Given the description of an element on the screen output the (x, y) to click on. 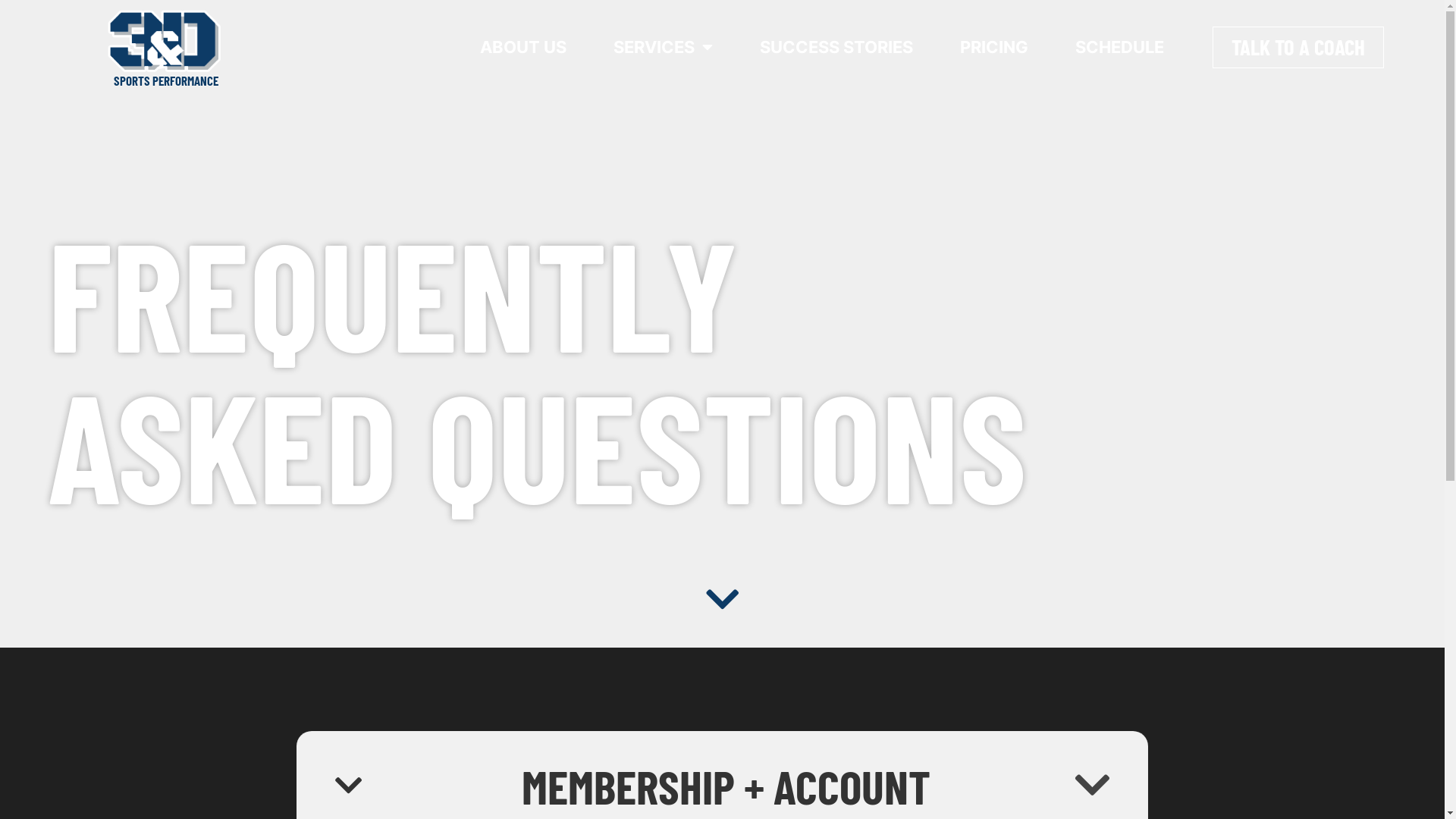
ABOUT US Element type: text (522, 46)
TALK TO A COACH Element type: text (1297, 47)
SERVICES Element type: text (662, 46)
SCHEDULE Element type: text (1119, 46)
PRICING Element type: text (993, 46)
SUCCESS STORIES Element type: text (836, 46)
